Given the description of an element on the screen output the (x, y) to click on. 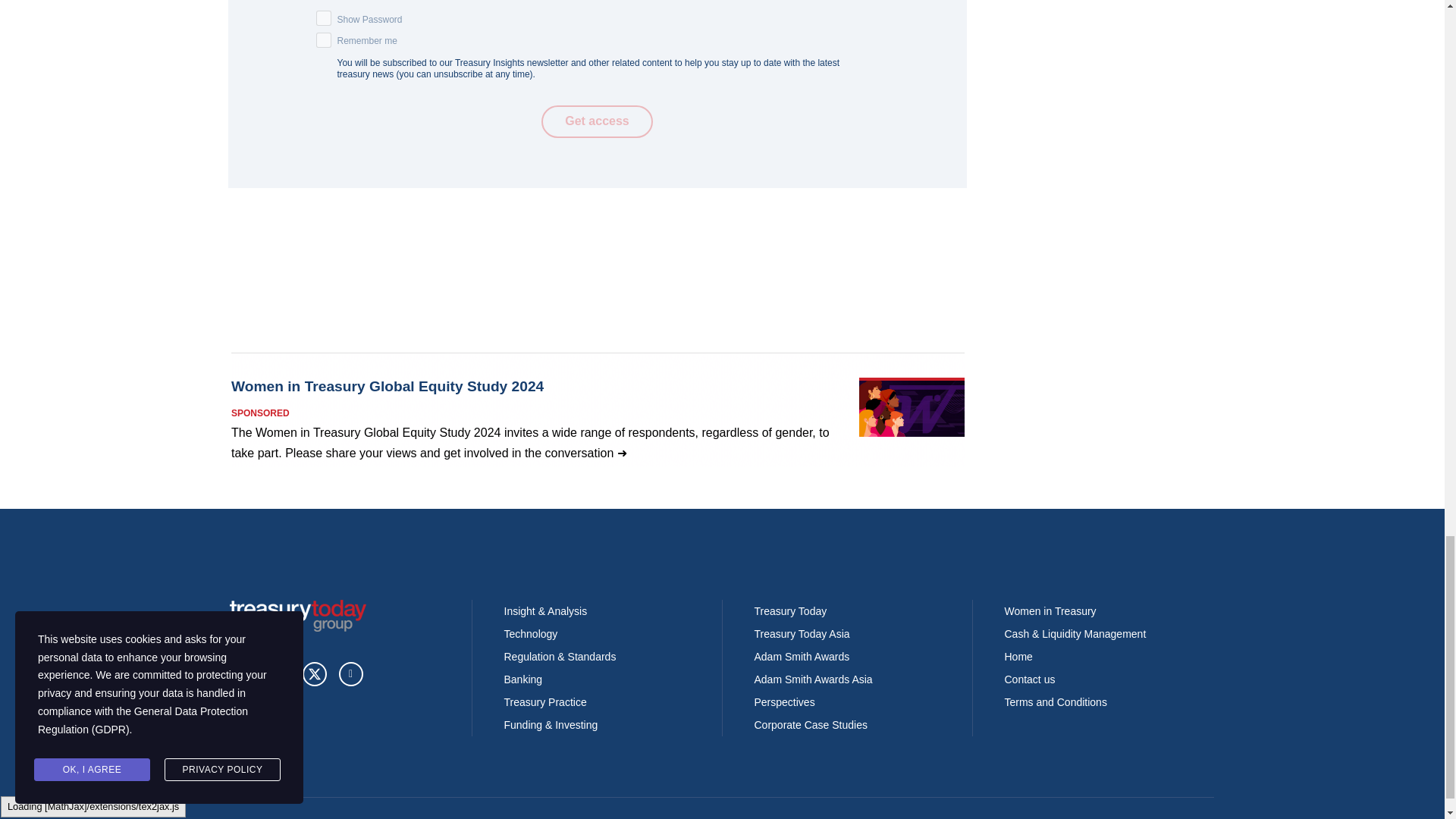
3rd party ad content (596, 409)
on (322, 17)
on (322, 39)
